Given the description of an element on the screen output the (x, y) to click on. 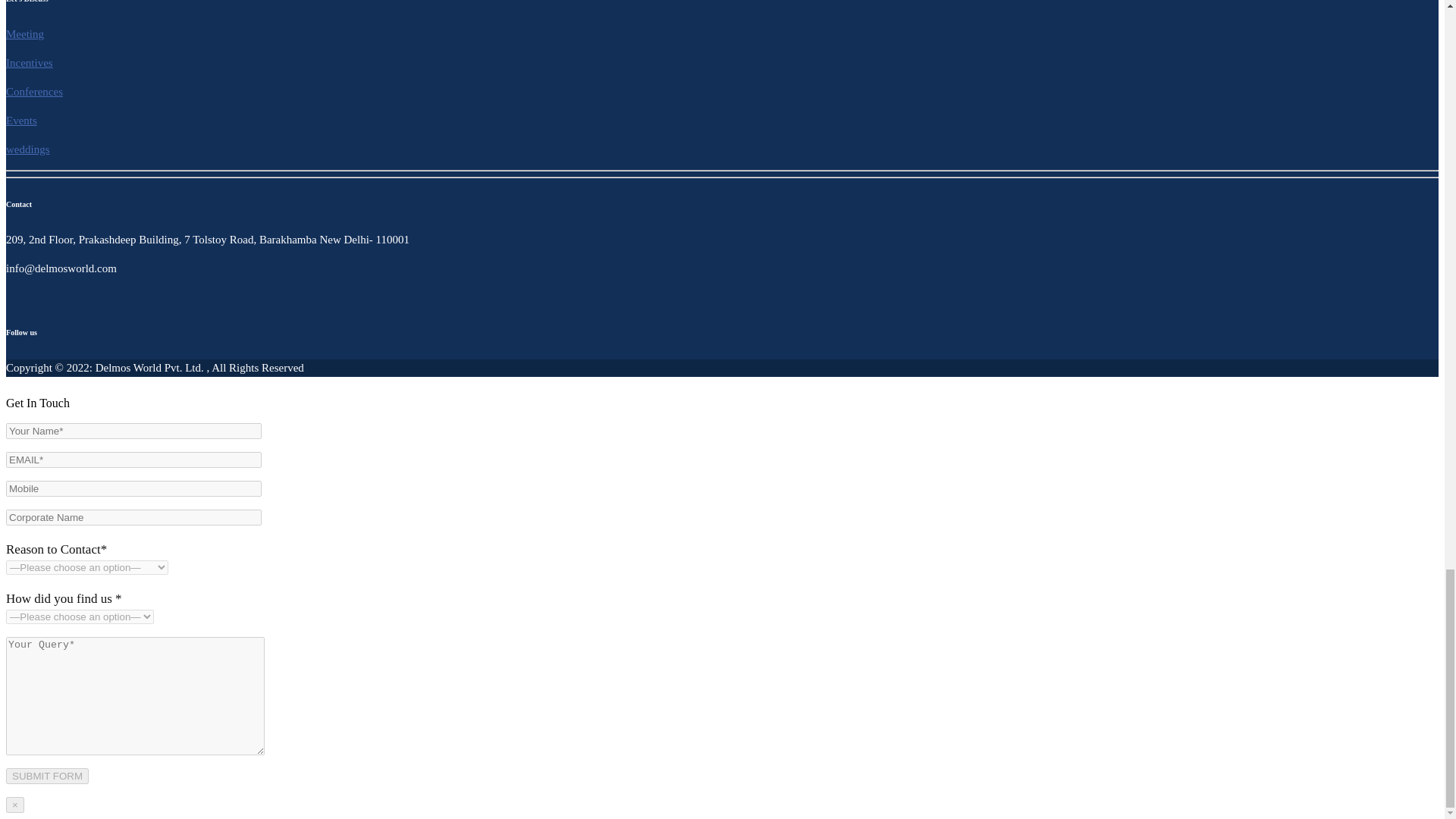
Conferences (33, 91)
Incentives (28, 62)
SUBMIT FORM (46, 775)
Events (21, 120)
SUBMIT FORM (46, 775)
weddings (27, 149)
Meeting (24, 33)
